Given the description of an element on the screen output the (x, y) to click on. 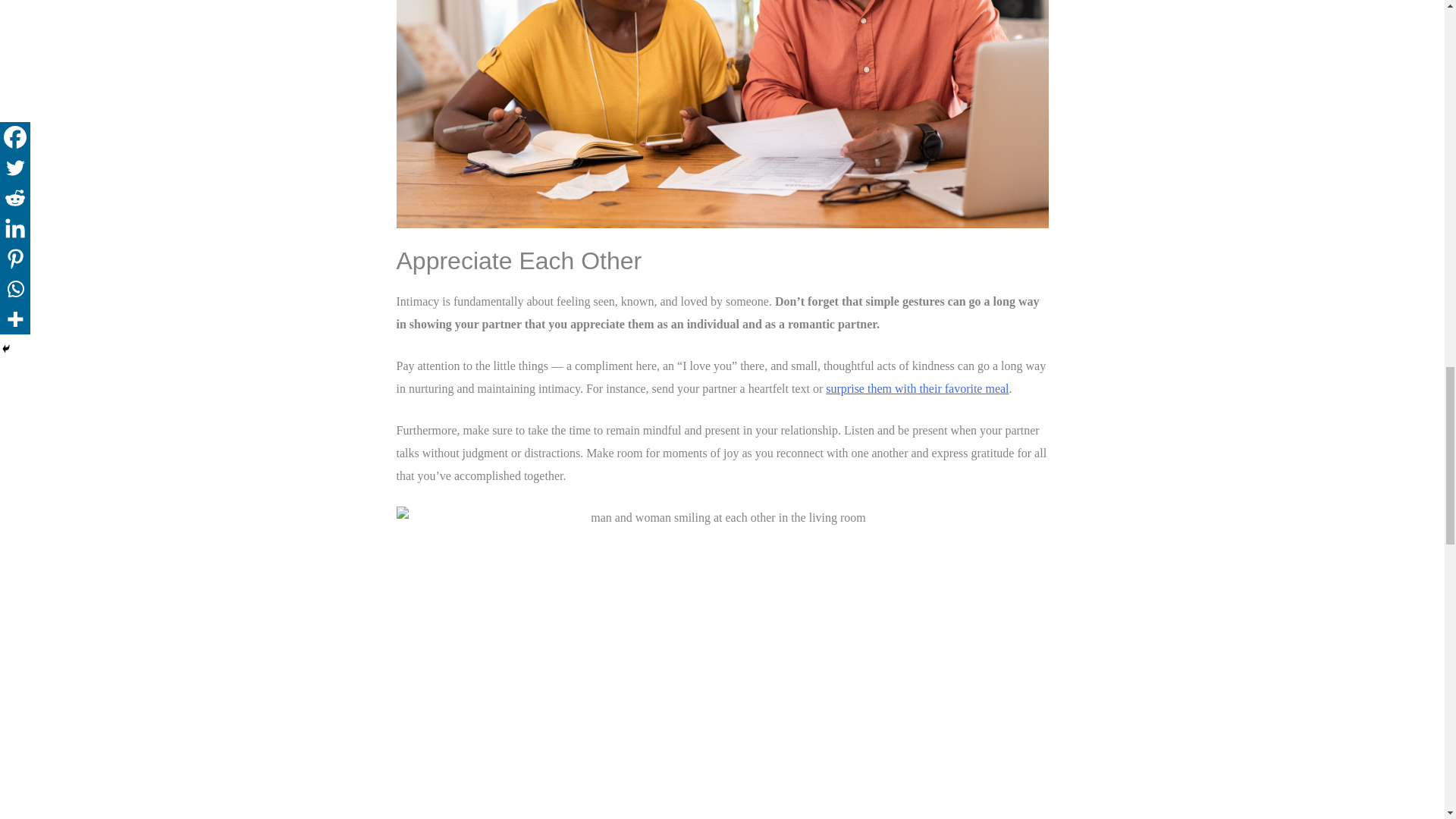
surprise them with their favorite meal (917, 388)
